Given the description of an element on the screen output the (x, y) to click on. 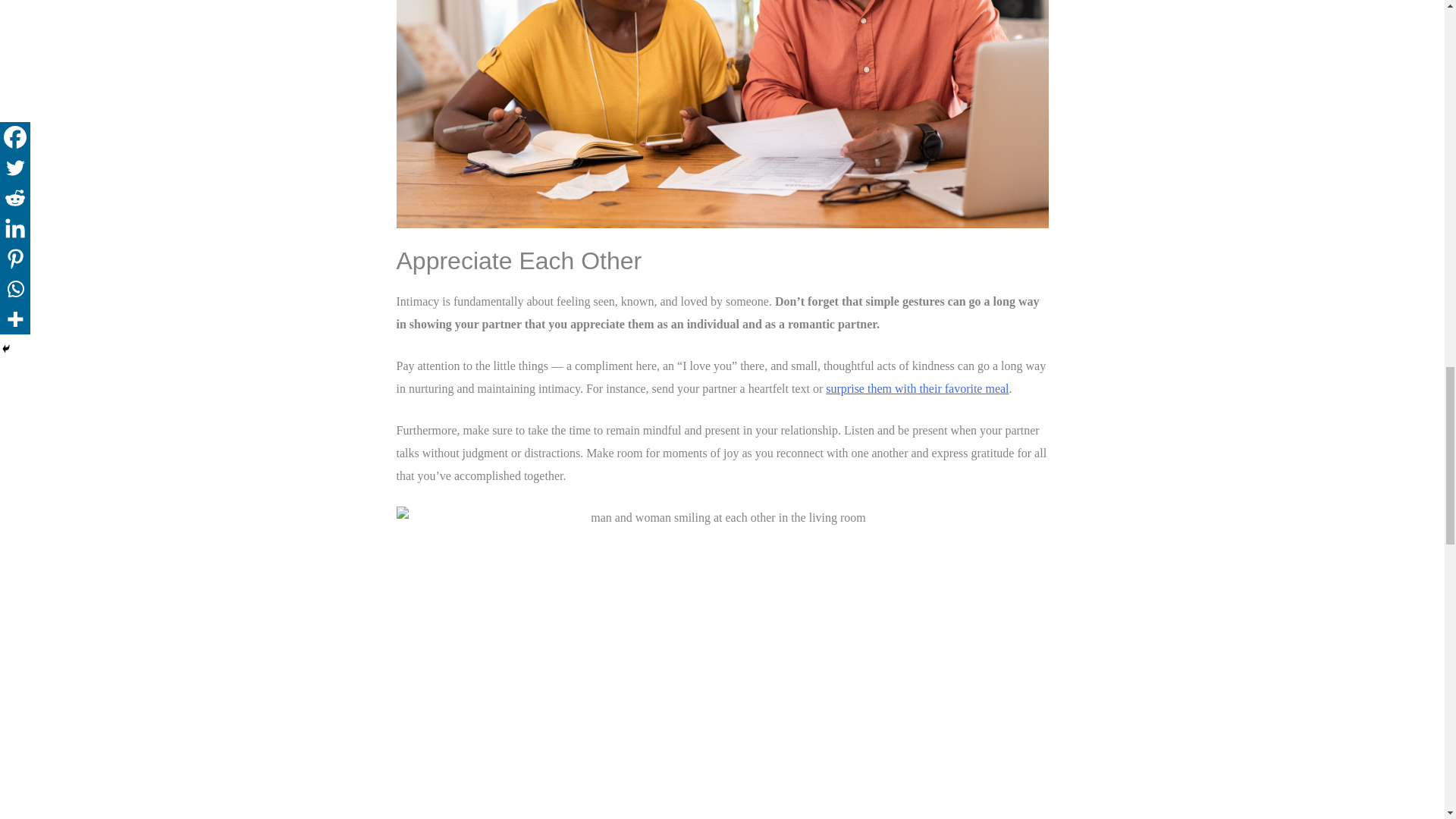
surprise them with their favorite meal (917, 388)
